Given the description of an element on the screen output the (x, y) to click on. 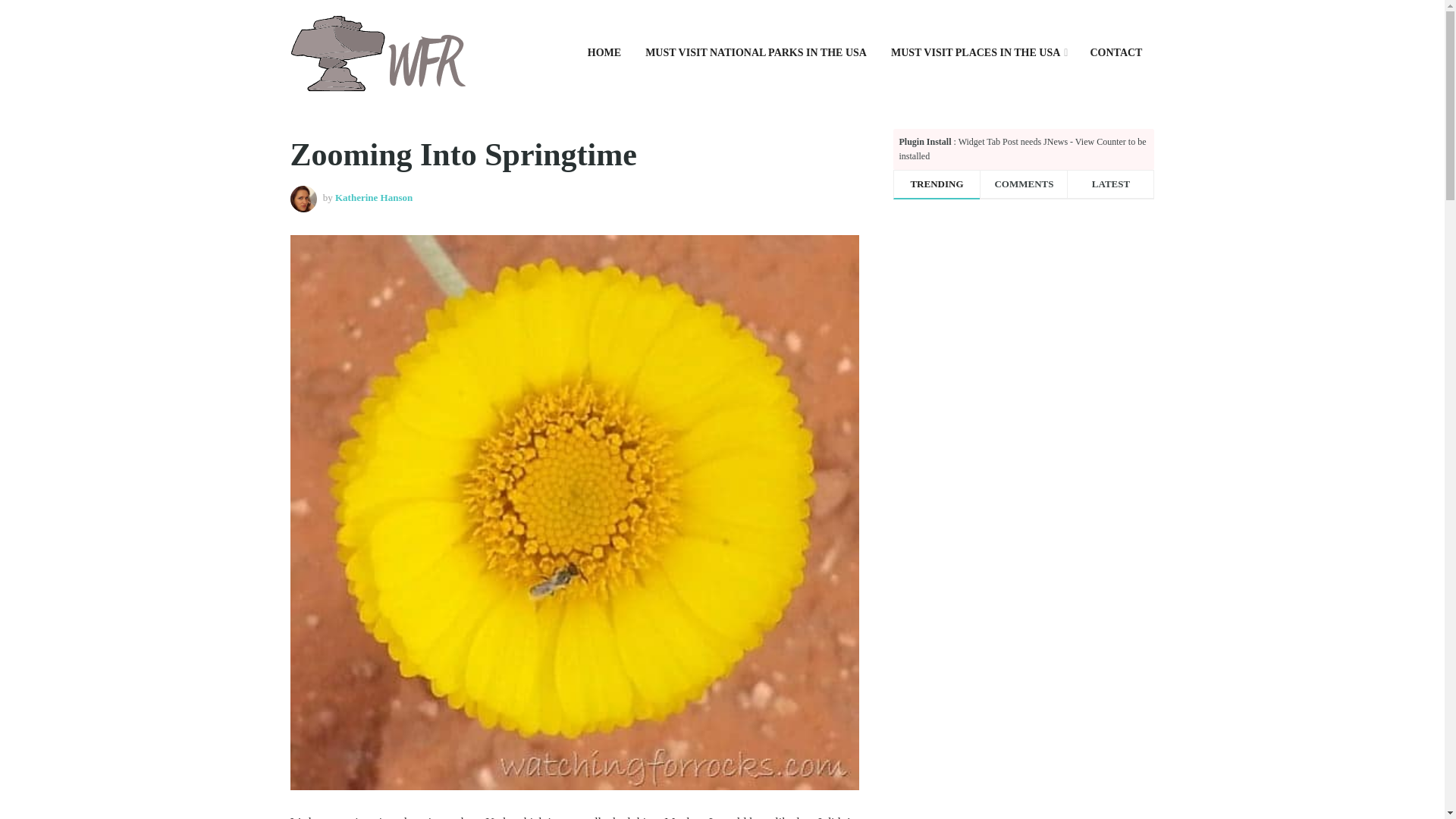
CONTACT (1115, 53)
HOME (604, 53)
Katherine Hanson (373, 197)
MUST VISIT PLACES IN THE USA (978, 53)
MUST VISIT NATIONAL PARKS IN THE USA (756, 53)
